Given the description of an element on the screen output the (x, y) to click on. 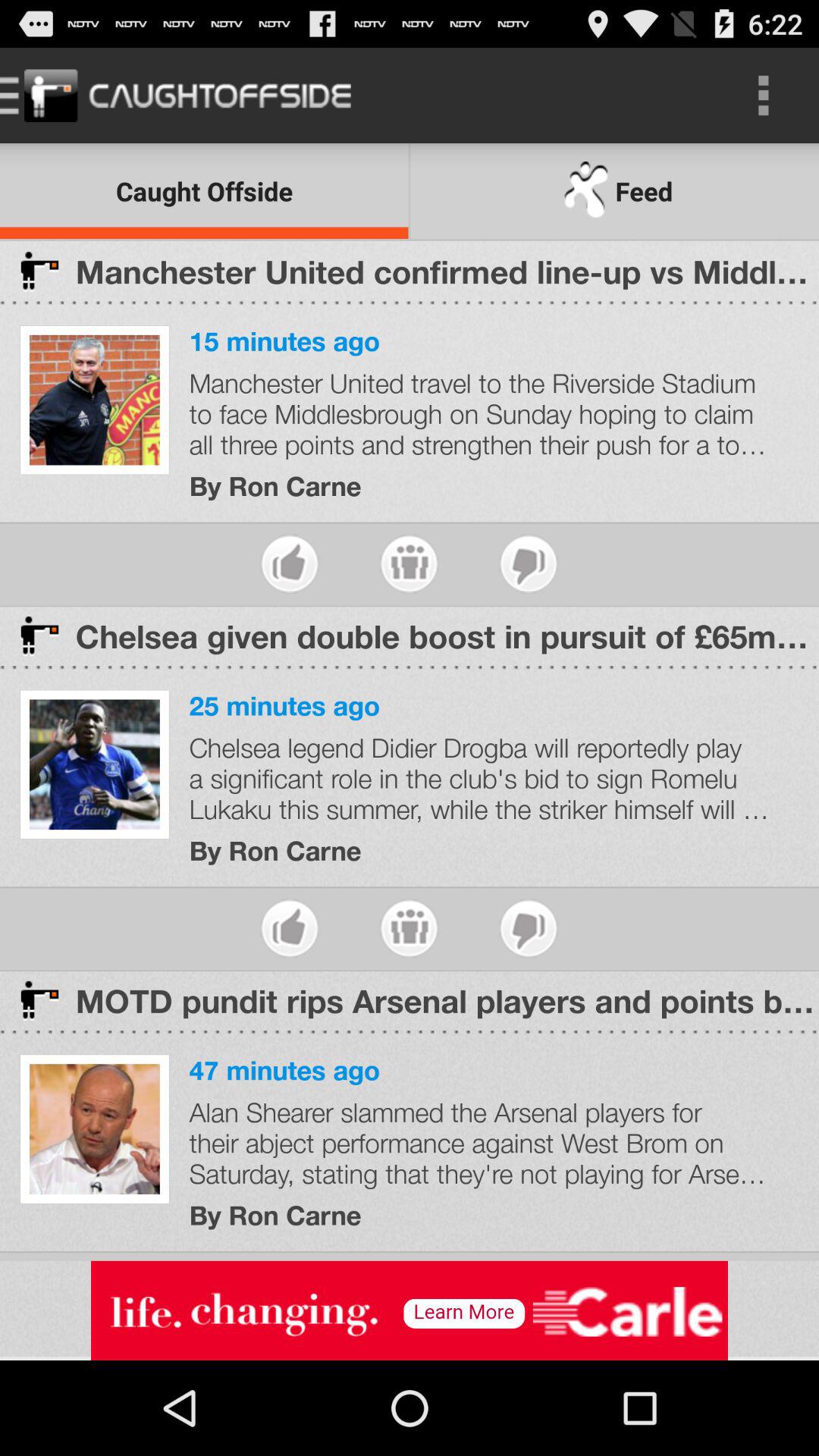
like (289, 928)
